Given the description of an element on the screen output the (x, y) to click on. 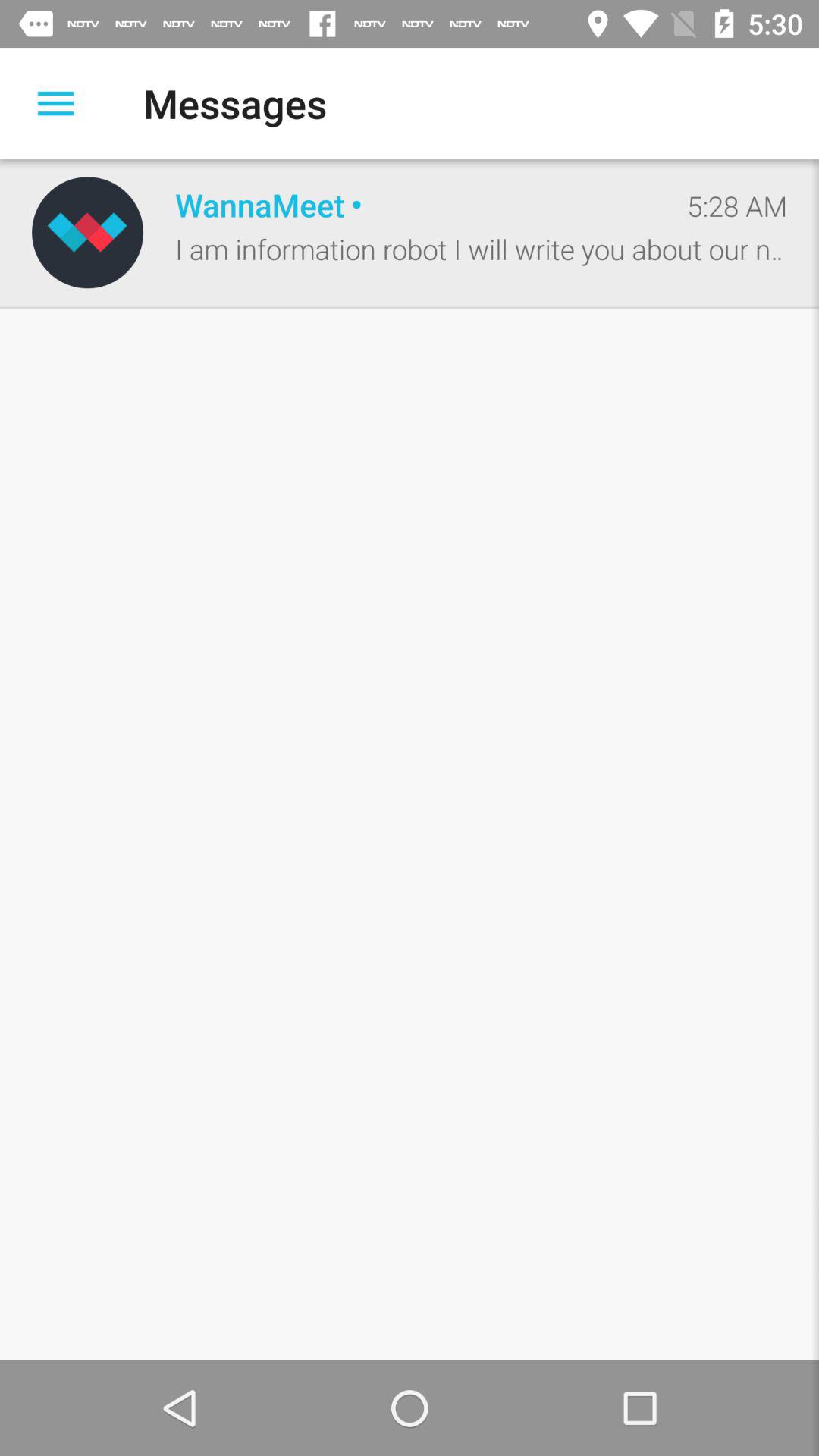
choose wannameet (415, 204)
